Given the description of an element on the screen output the (x, y) to click on. 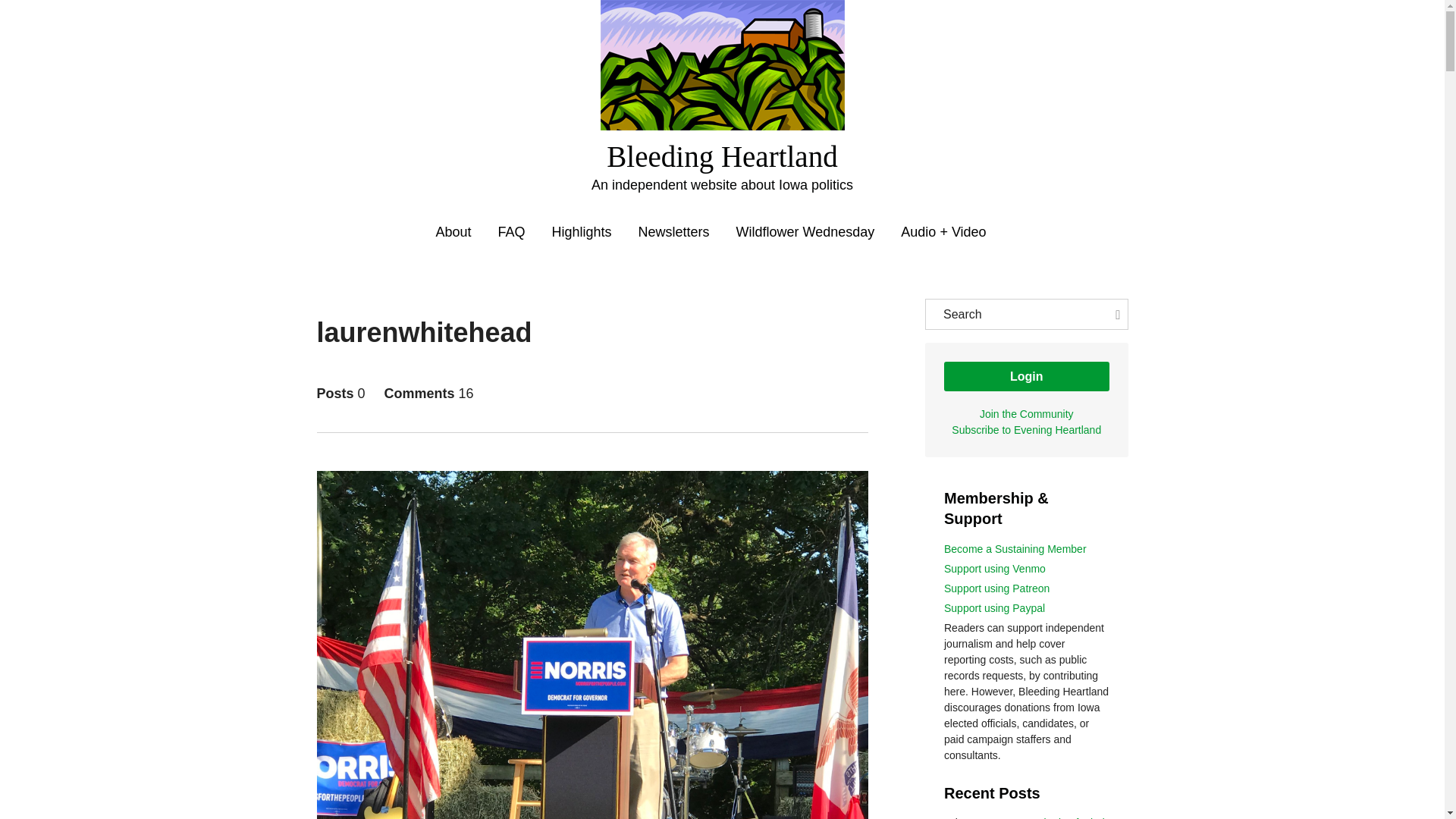
Newsletters (674, 231)
FAQ (510, 231)
About (452, 231)
Highlights (581, 231)
Wildflower Wednesday (805, 231)
